Given the description of an element on the screen output the (x, y) to click on. 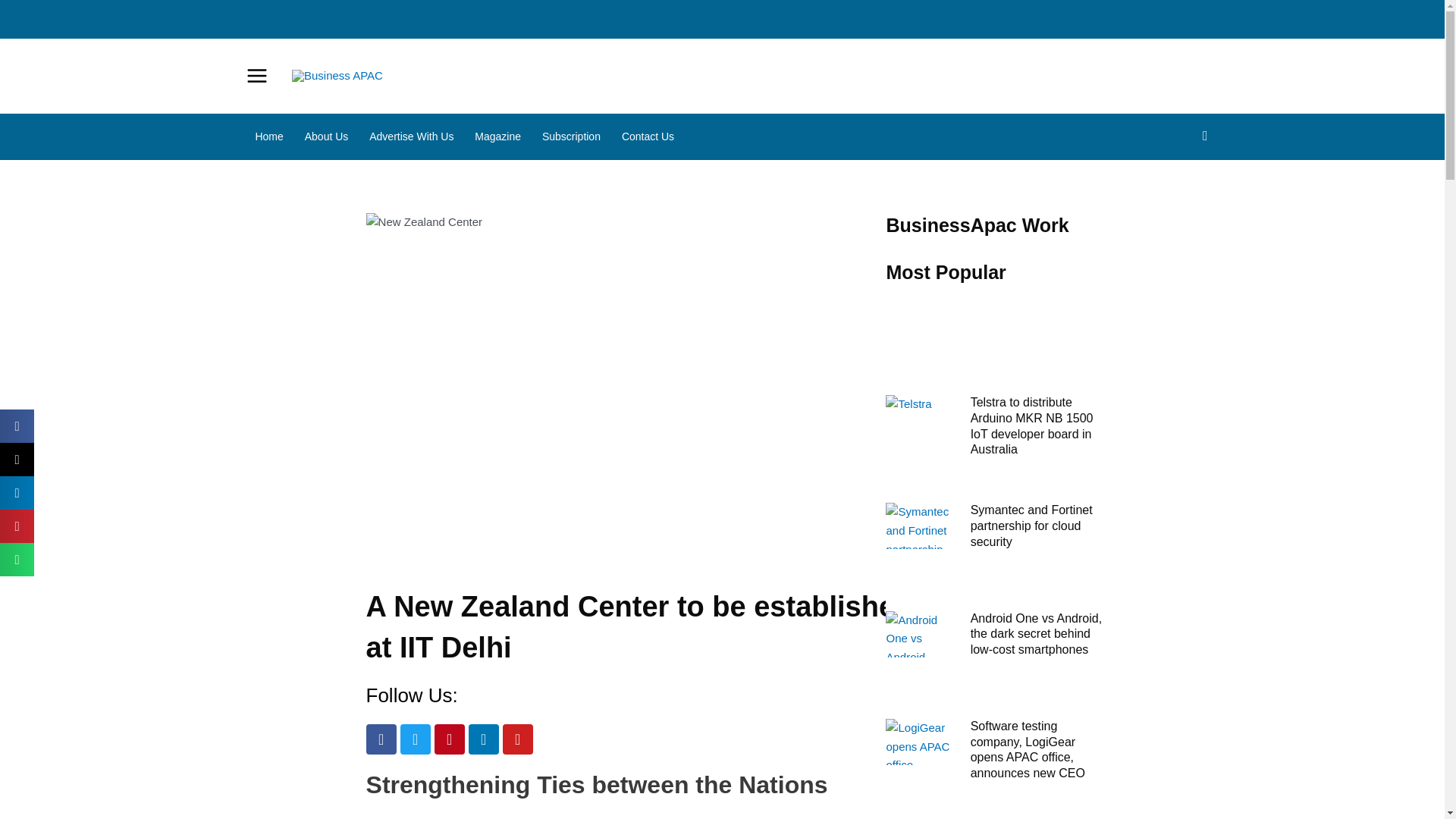
Main Menu (255, 75)
About Us (326, 135)
Linkedin (483, 738)
Advertise With Us (411, 135)
Home (269, 135)
Contact Us (642, 135)
Magazine (497, 135)
